Given the description of an element on the screen output the (x, y) to click on. 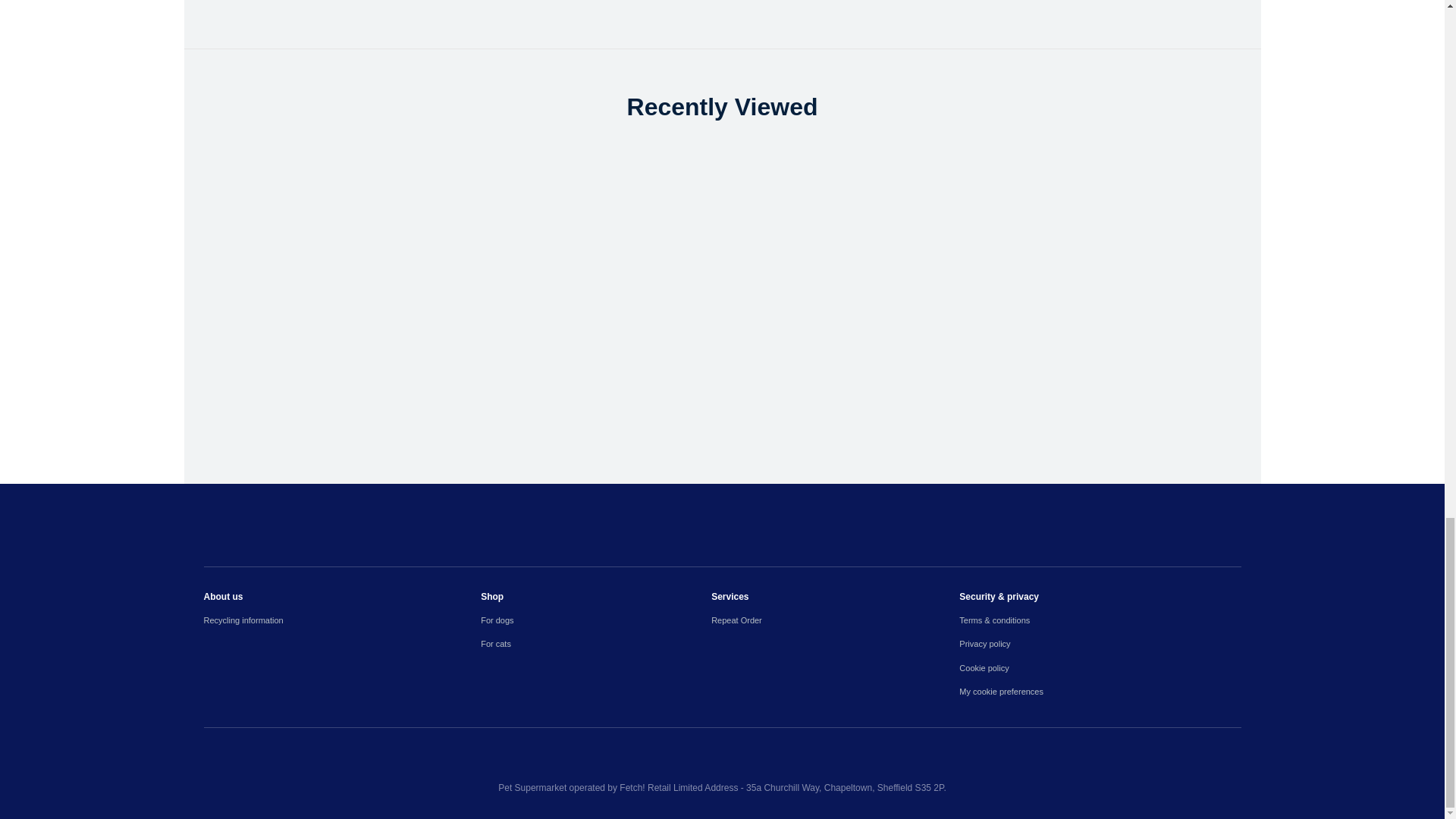
Recycling information (341, 620)
Repeat Order (835, 620)
For dogs (595, 620)
Cookie policy (1099, 667)
For cats (595, 644)
Privacy policy (1099, 644)
My cookie preferences (1099, 691)
